Given the description of an element on the screen output the (x, y) to click on. 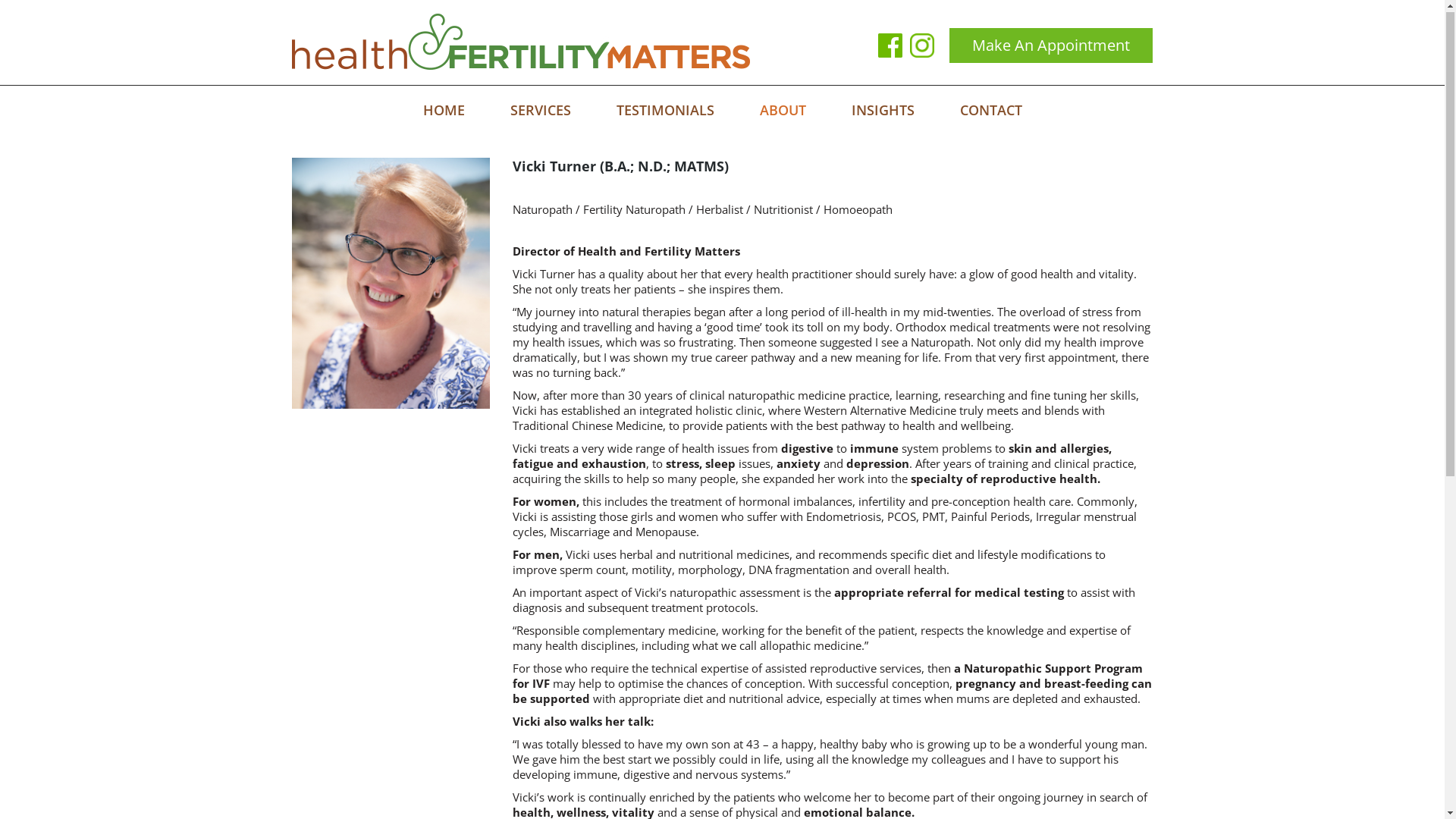
ABOUT Element type: text (782, 111)
HOME Element type: text (443, 111)
INSIGHTS Element type: text (882, 111)
TESTIMONIALS Element type: text (665, 111)
CONTACT Element type: text (990, 111)
Make An Appointment Element type: text (1050, 46)
SERVICES Element type: text (540, 111)
